Given the description of an element on the screen output the (x, y) to click on. 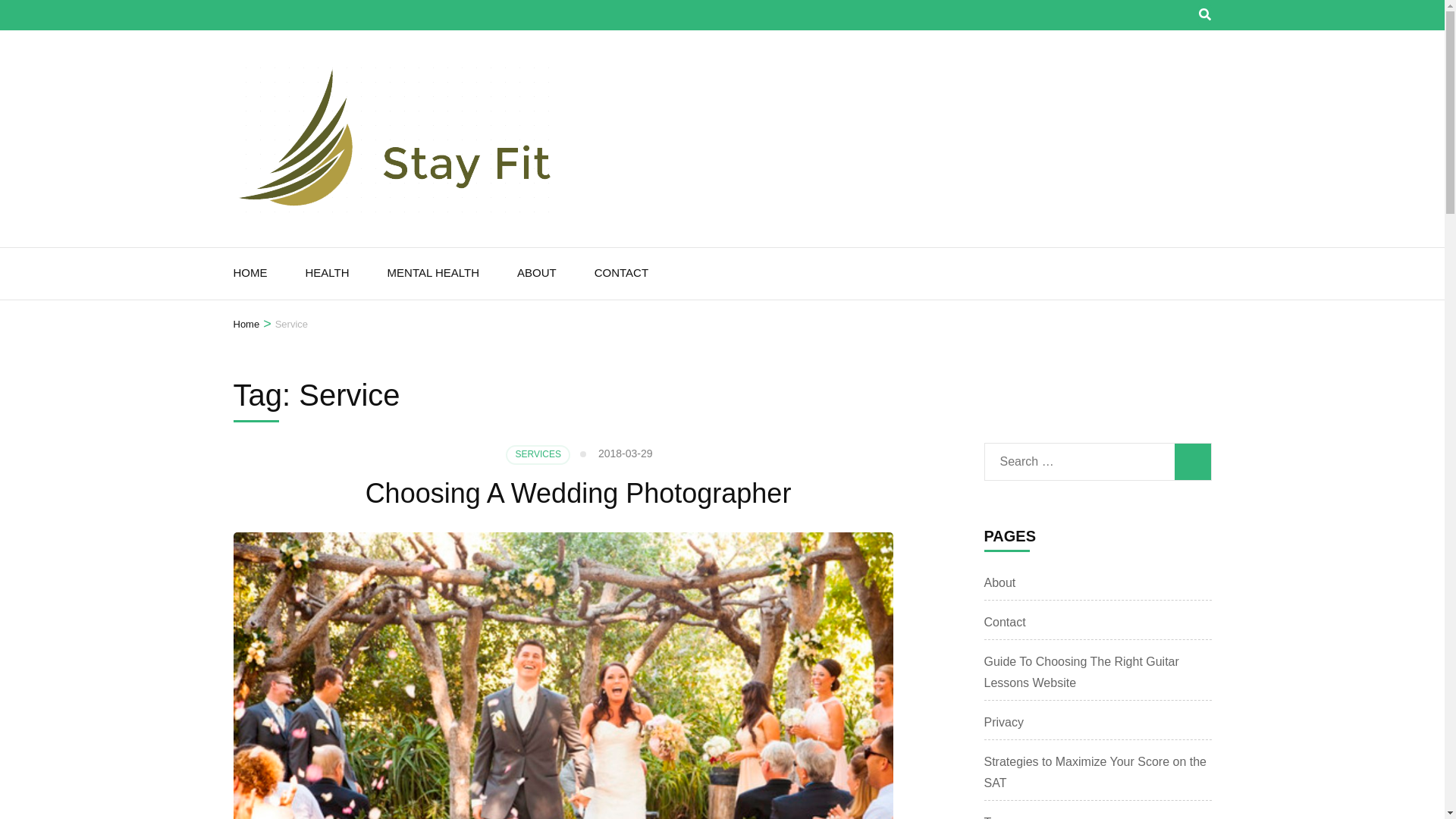
Contact (1005, 621)
CONTACT (620, 273)
Search (1191, 461)
About (1000, 582)
Search (1191, 461)
Privacy (1003, 721)
Strategies to Maximize Your Score on the SAT (1095, 772)
Terms (1000, 817)
Guide To Choosing The Right Guitar Lessons Website (1081, 672)
2018-03-29 (625, 453)
MENTAL HEALTH (433, 273)
Service (291, 324)
Home (246, 324)
Choosing A Wedding Photographer (578, 492)
SERVICES (537, 455)
